Given the description of an element on the screen output the (x, y) to click on. 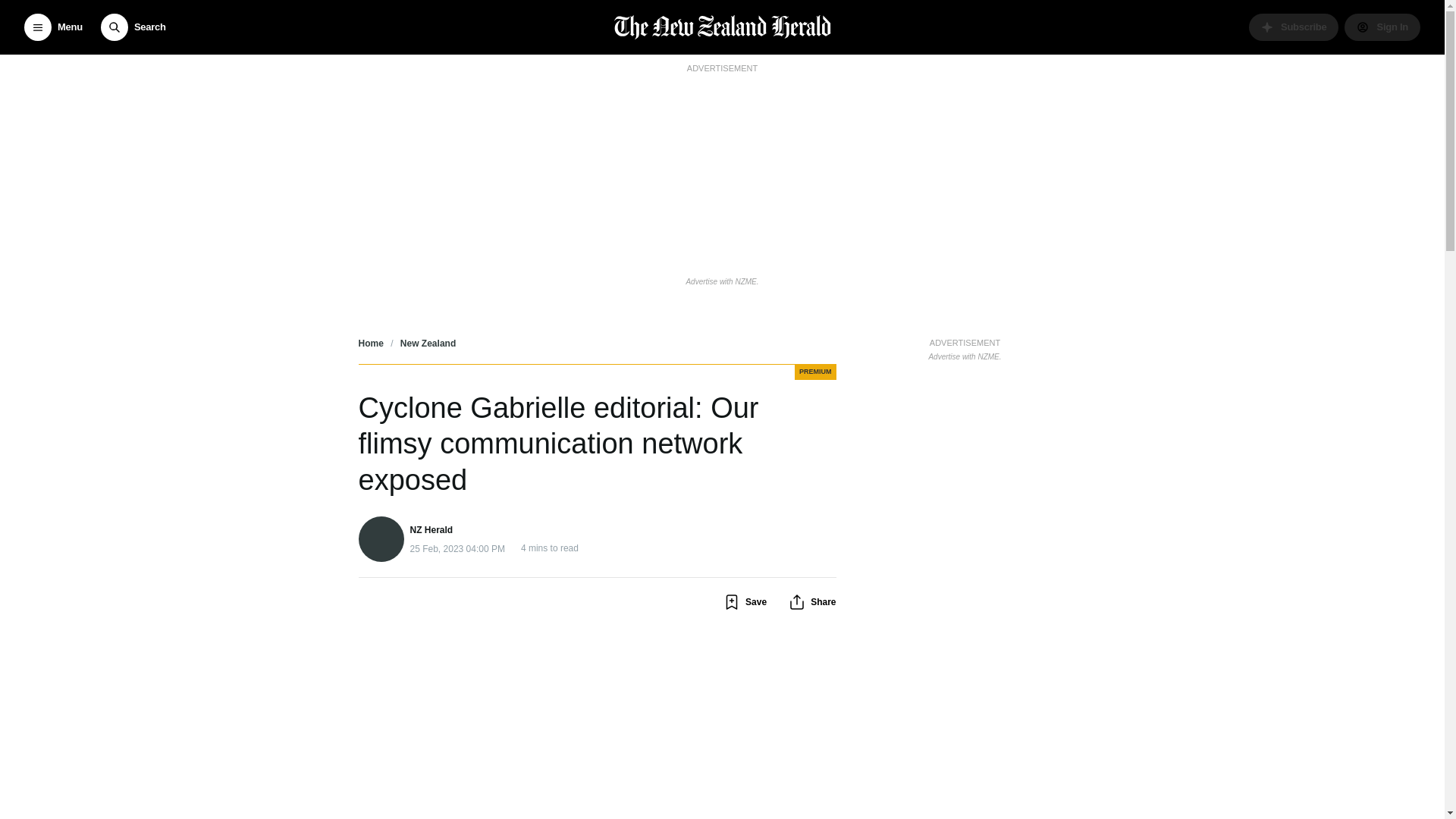
Sign In (1382, 26)
Subscribe (1294, 26)
Menu (53, 26)
Manage your account (1382, 26)
Search (132, 26)
